Given the description of an element on the screen output the (x, y) to click on. 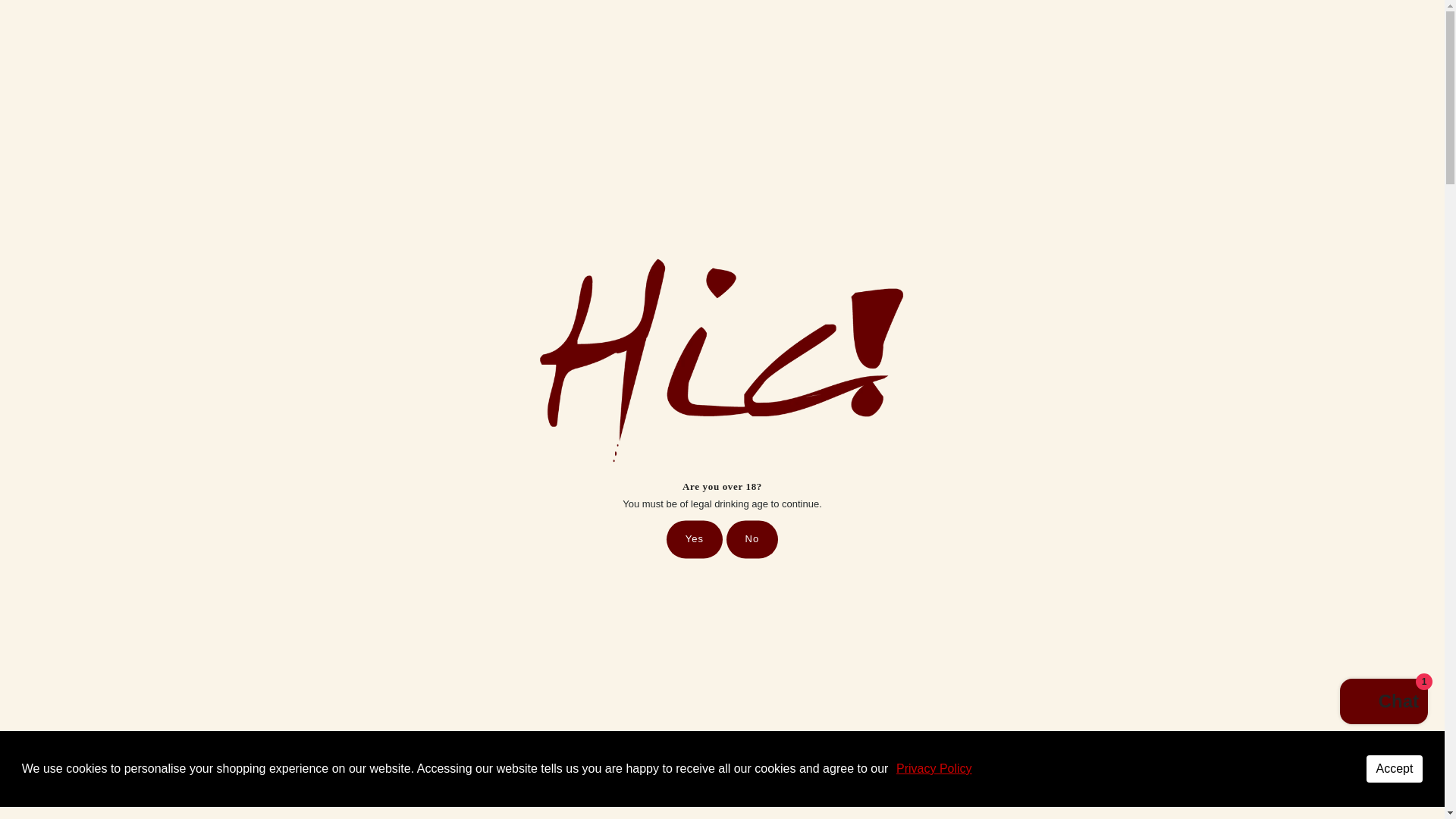
No (752, 539)
Add to cart (1124, 406)
1 (1045, 350)
DELIVERY INFORMATION (841, 18)
Share on Twitter (1018, 483)
DELIVERS (841, 18)
Yes (694, 539)
WINES (405, 155)
